Given the description of an element on the screen output the (x, y) to click on. 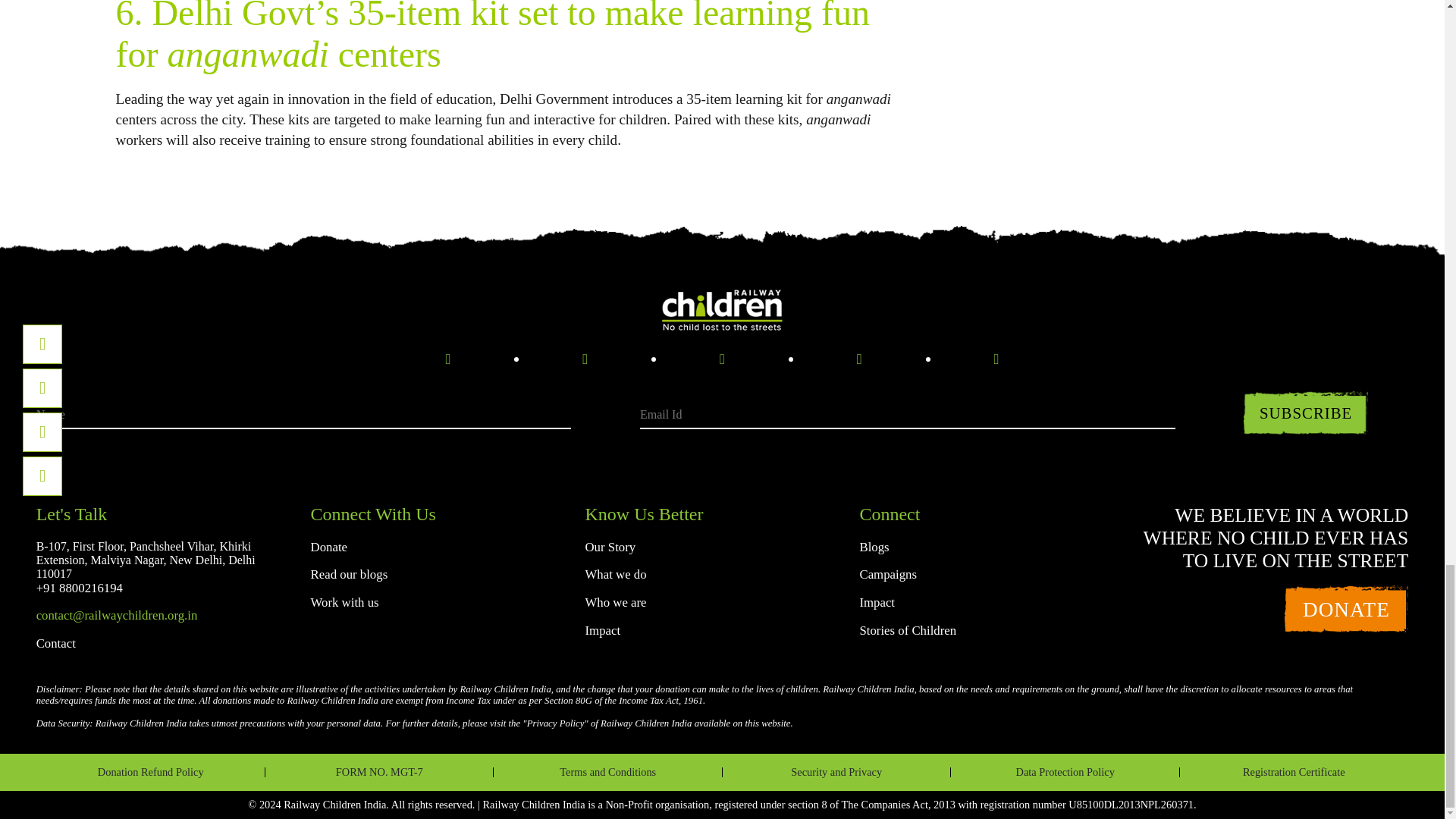
Subscribe (1305, 412)
